Given the description of an element on the screen output the (x, y) to click on. 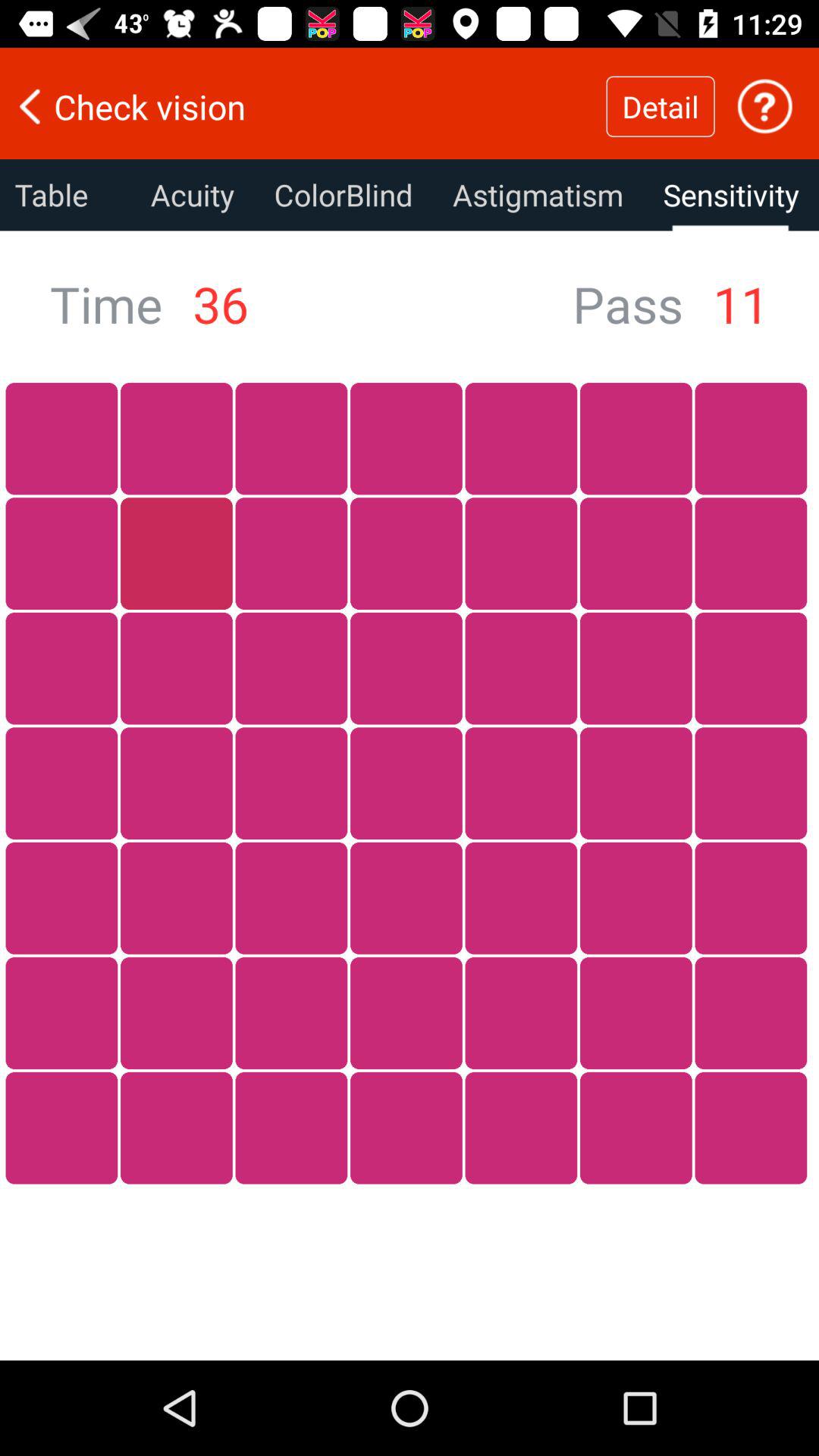
choose icon to the right of acuity icon (343, 194)
